Given the description of an element on the screen output the (x, y) to click on. 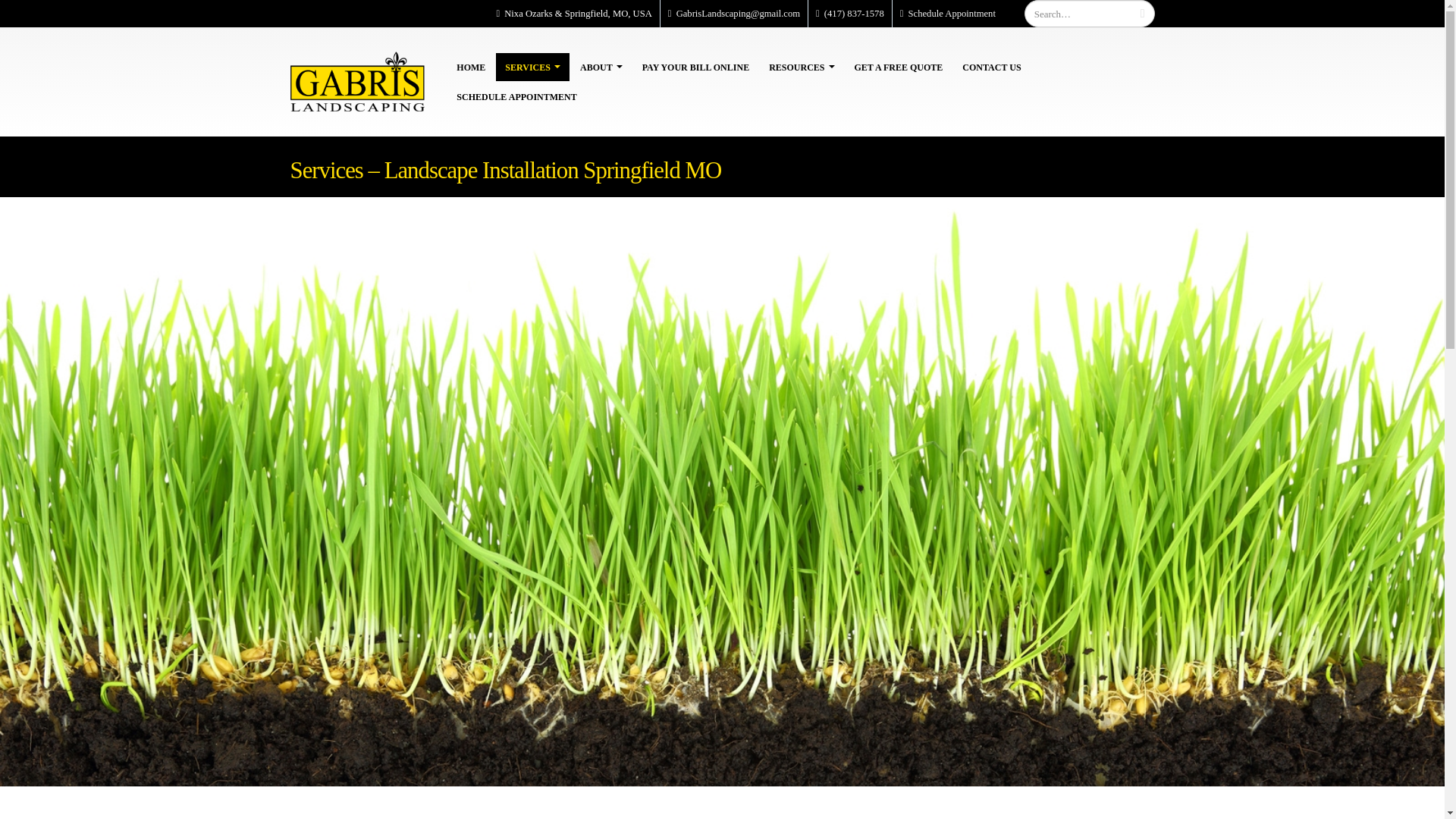
SERVICES (532, 67)
Schedule Appointment (951, 13)
Search (1142, 13)
HOME (470, 67)
